Given the description of an element on the screen output the (x, y) to click on. 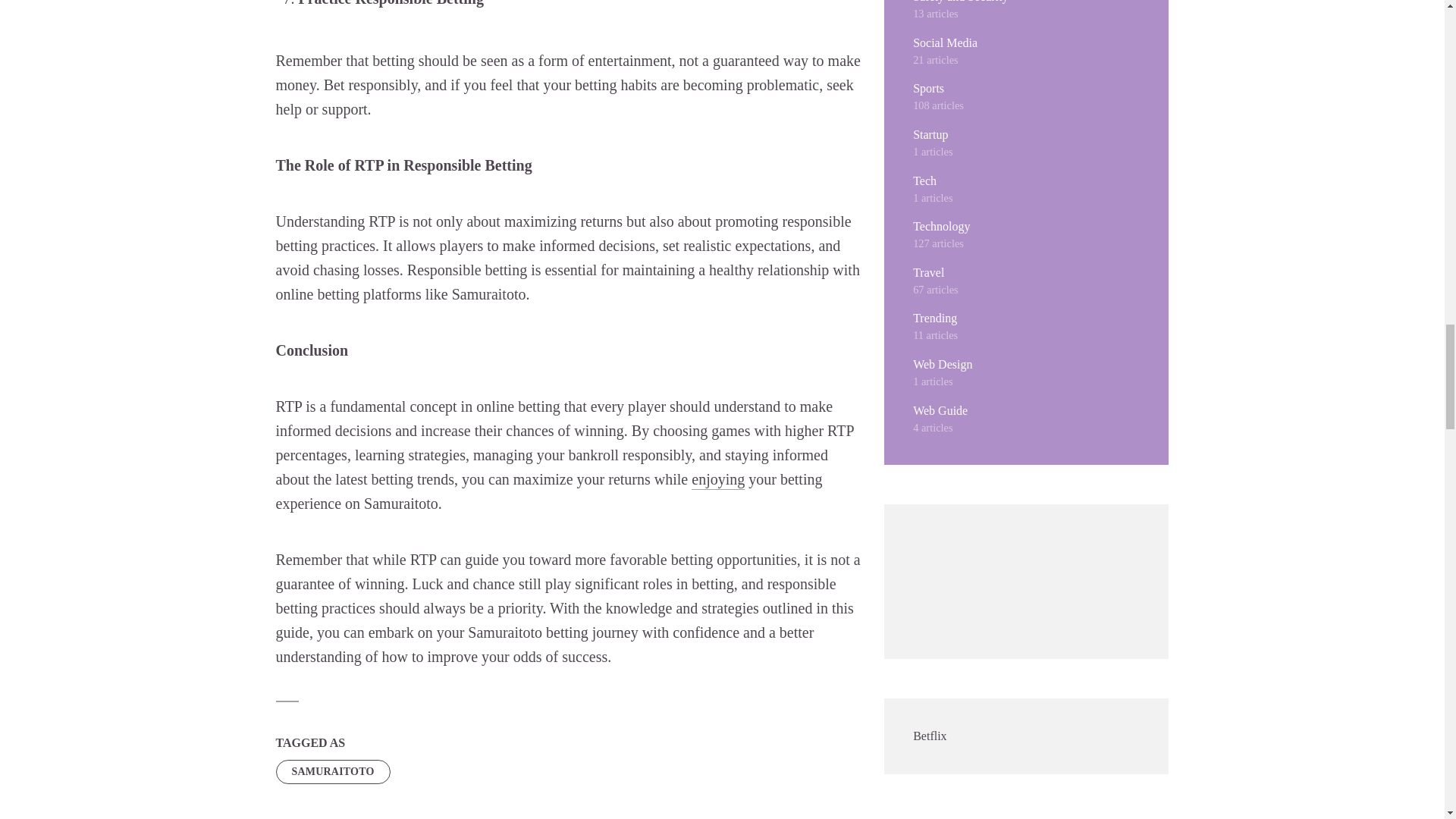
enjoying (717, 479)
SAMURAITOTO (333, 771)
